Given the description of an element on the screen output the (x, y) to click on. 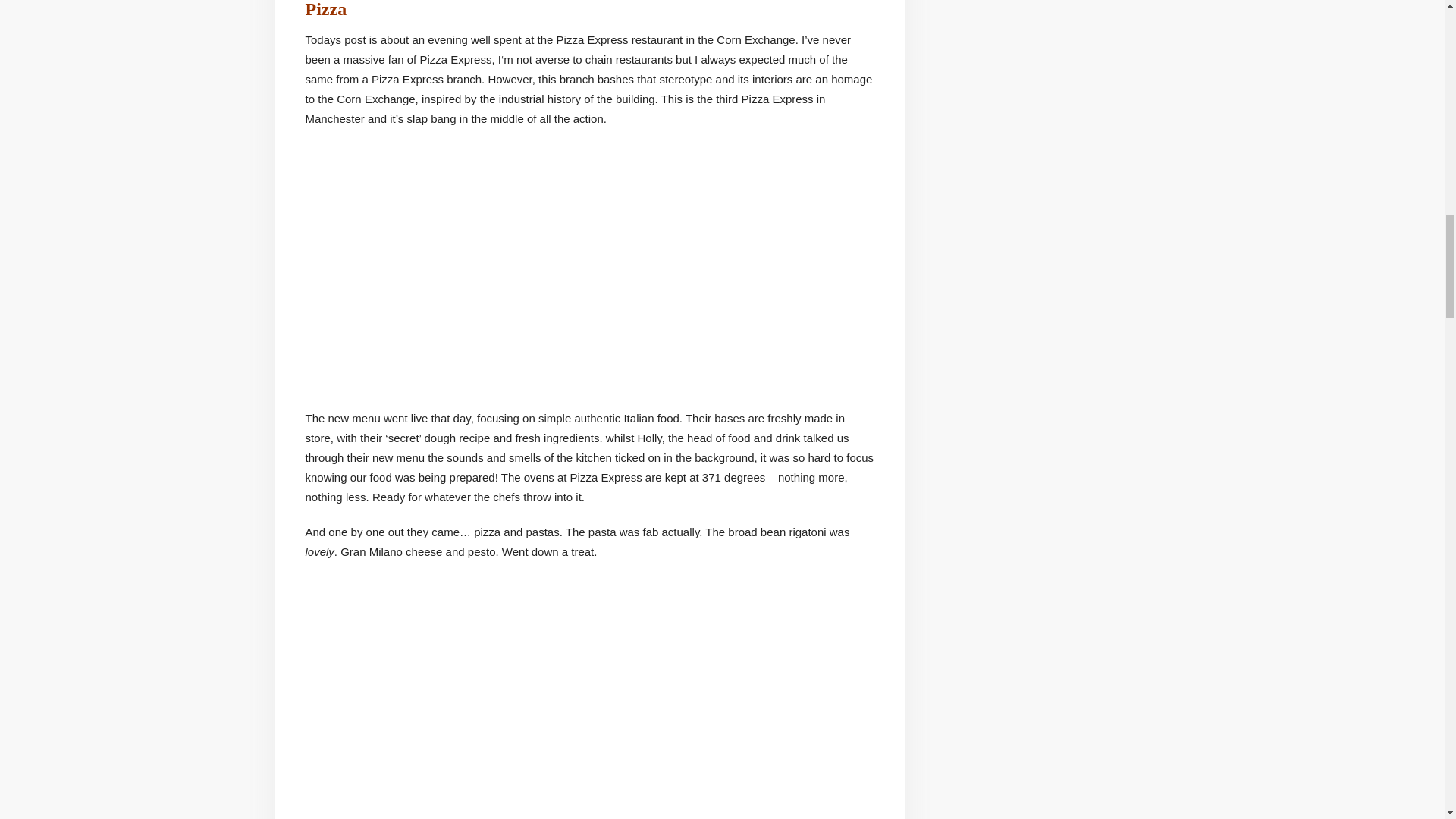
Pizza Express Corn Exchange 32 (512, 716)
Pizza Express Corn Exchange 5 (945, 268)
Pizza Express Corn Exchange 30 (462, 268)
